Given the description of an element on the screen output the (x, y) to click on. 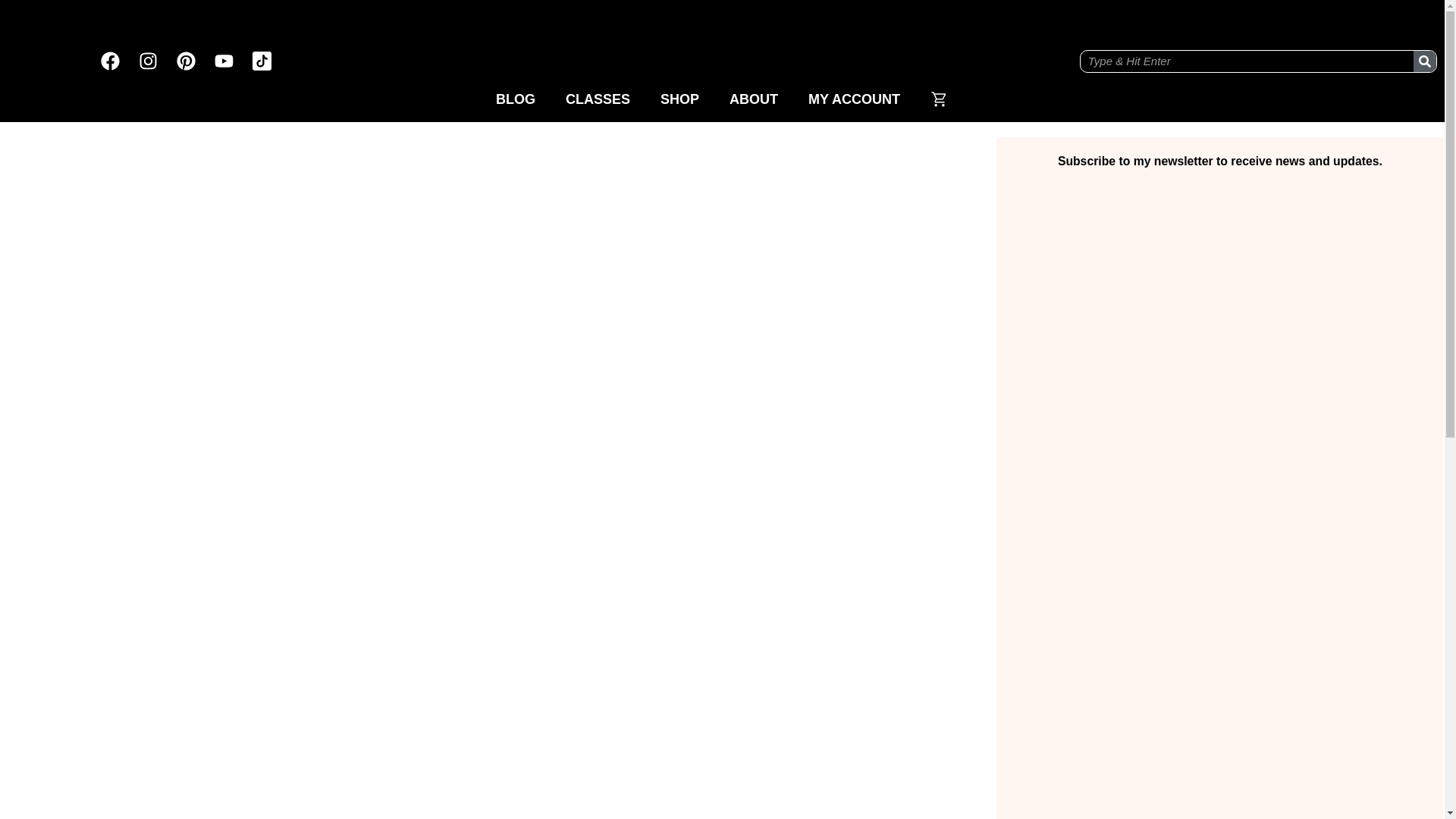
SHOP (679, 98)
ABOUT (753, 98)
CLASSES (597, 98)
BLOG (515, 98)
MY ACCOUNT (854, 98)
shawnmosch (722, 42)
